Given the description of an element on the screen output the (x, y) to click on. 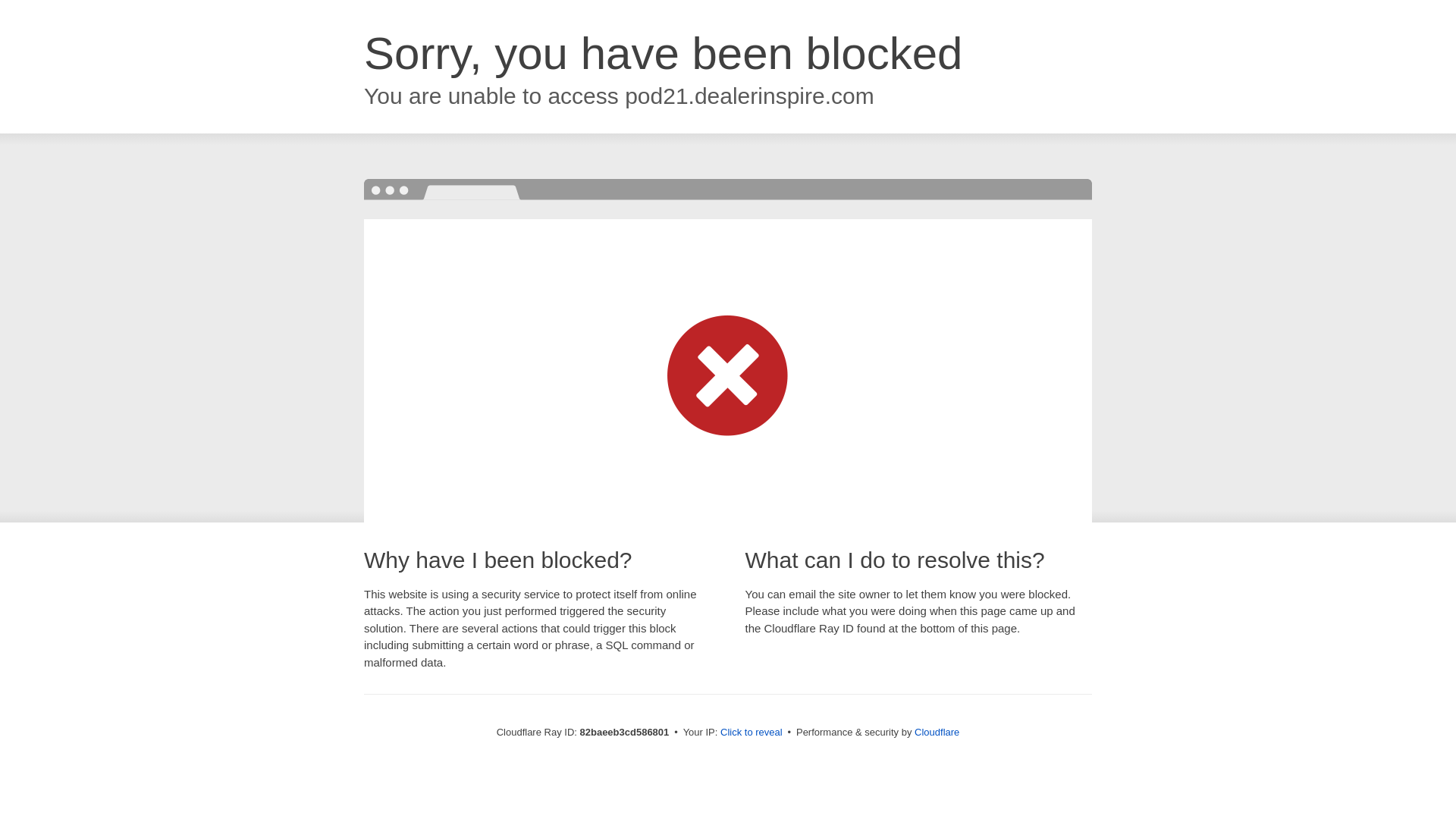
Cloudflare Element type: text (936, 731)
Click to reveal Element type: text (751, 732)
